Given the description of an element on the screen output the (x, y) to click on. 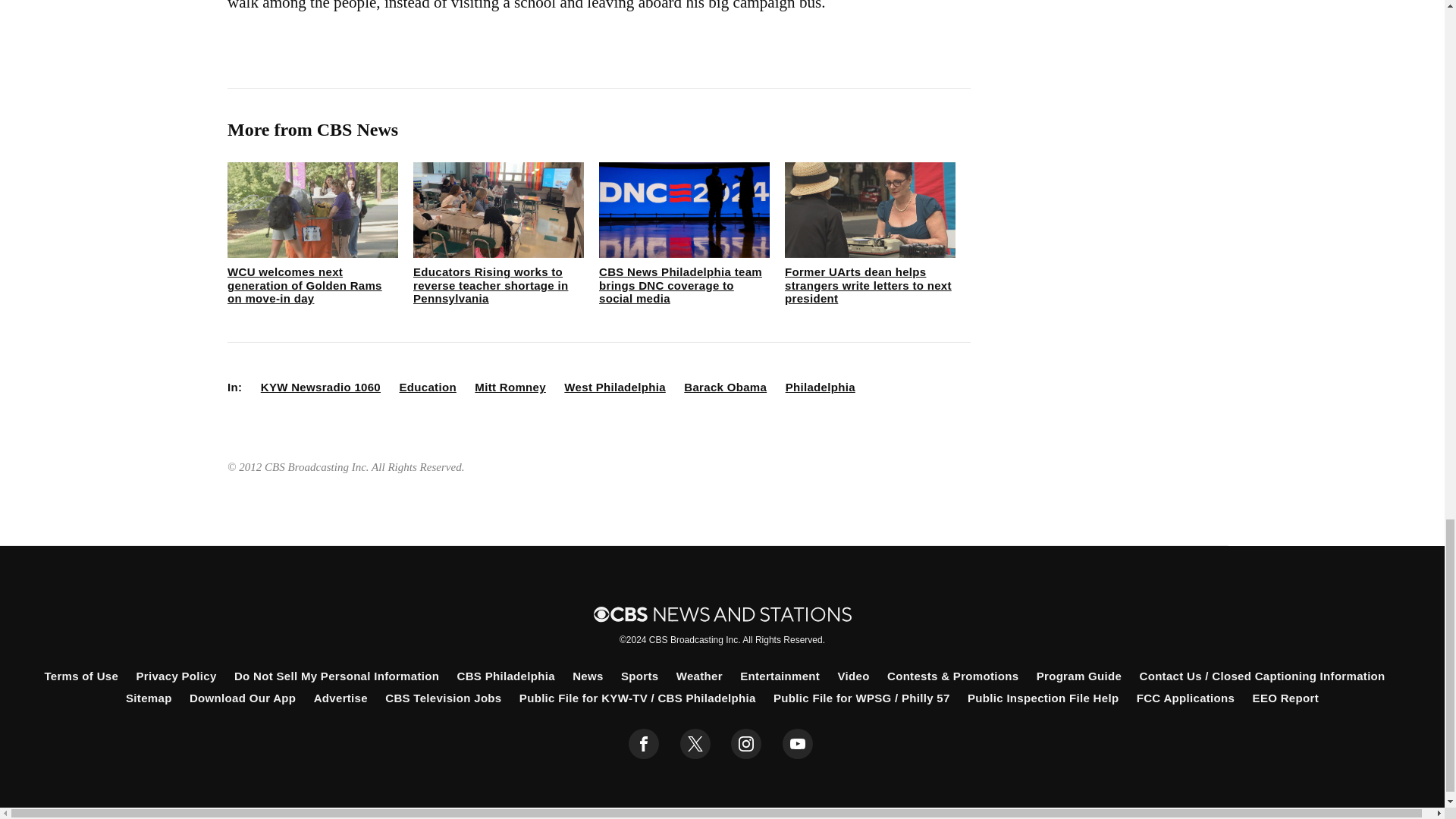
instagram (745, 743)
youtube (797, 743)
twitter (694, 743)
facebook (643, 743)
